Given the description of an element on the screen output the (x, y) to click on. 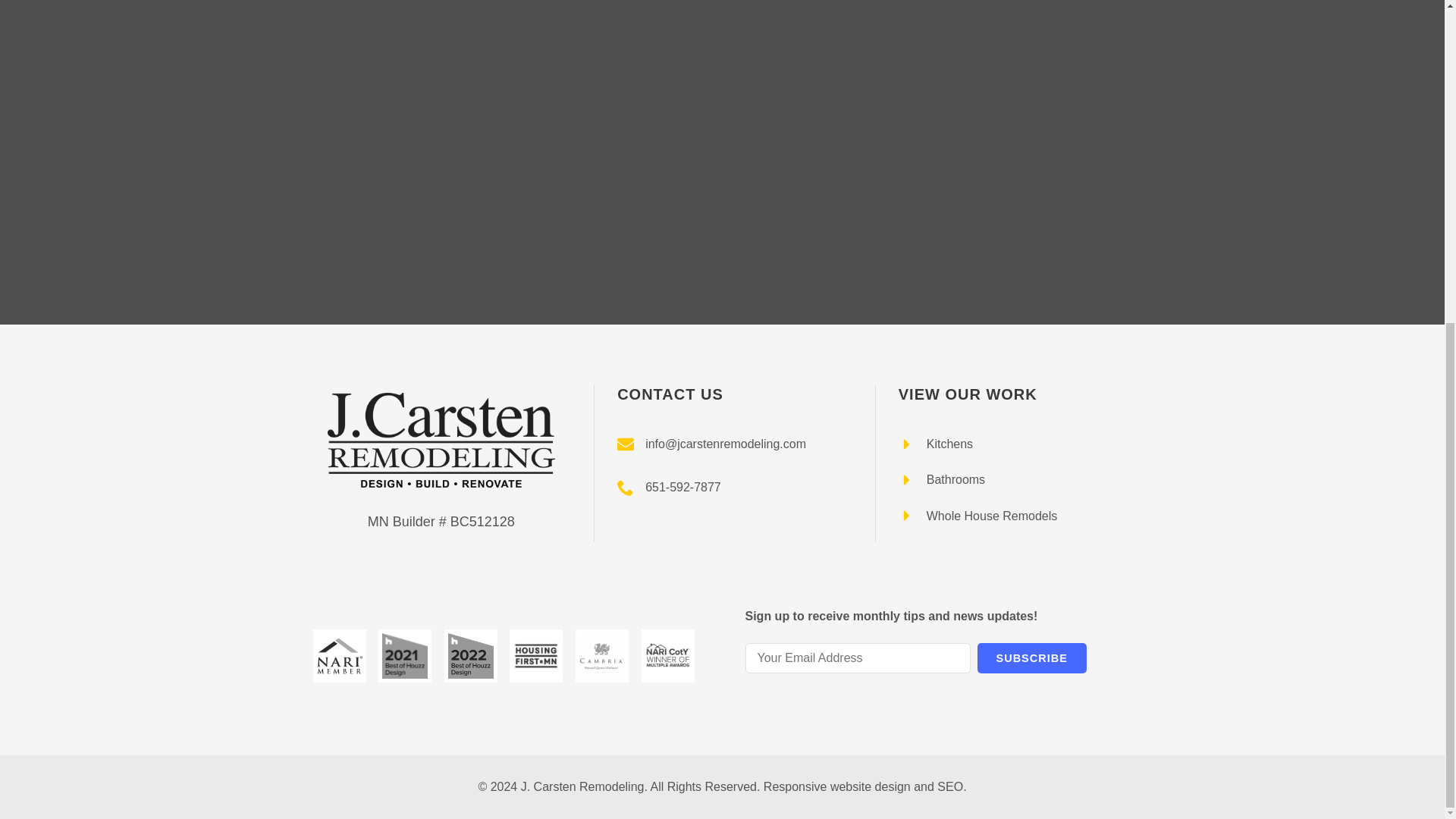
Whole House Remodels (978, 516)
651-592-7877 (668, 486)
Subscribe (1031, 658)
Bathrooms (941, 479)
Kitchens (935, 444)
